Given the description of an element on the screen output the (x, y) to click on. 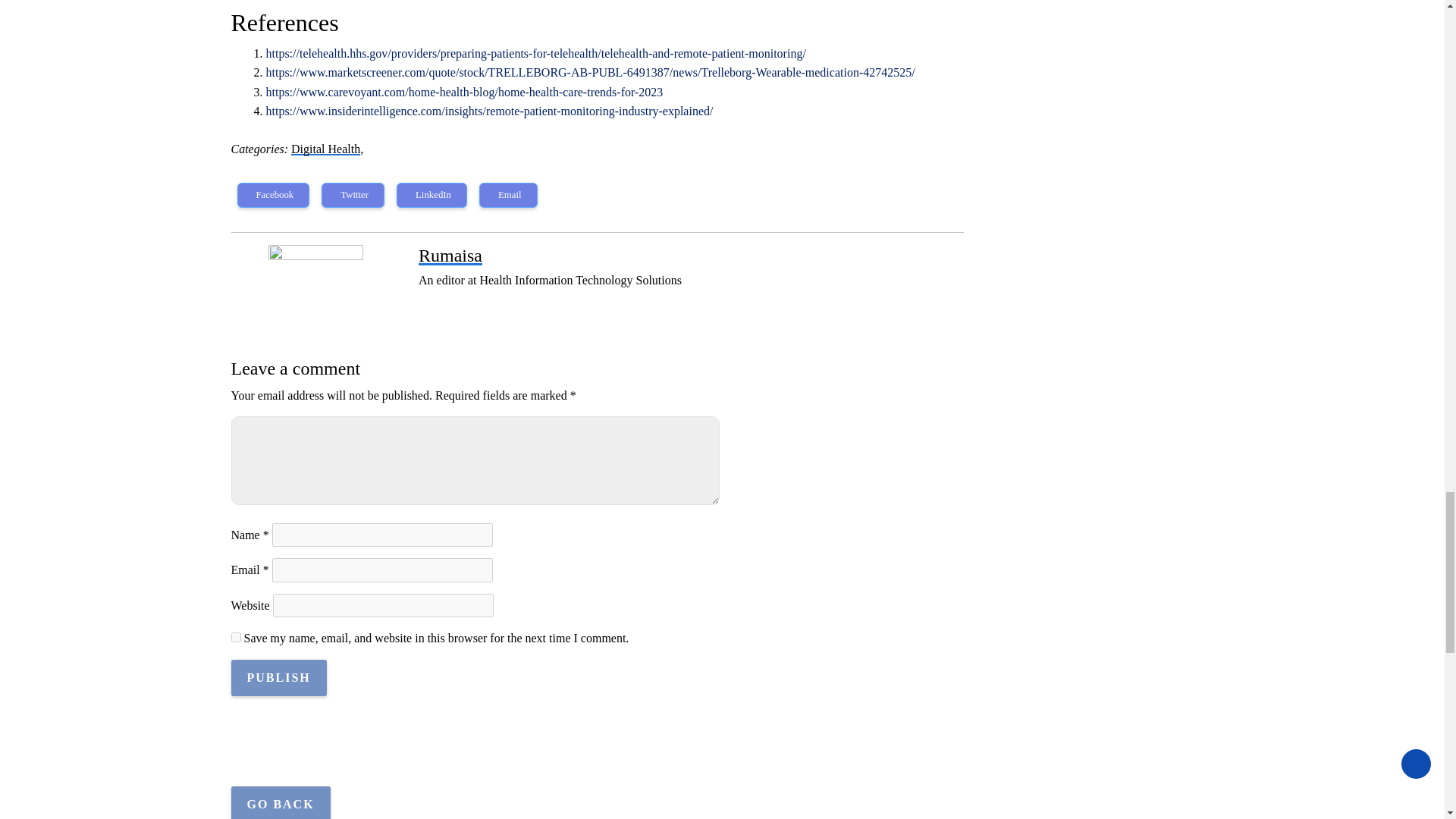
yes (235, 637)
Click to share this post on LinkedIn (431, 194)
Rumaisa (450, 255)
Click to share this post on Twitter (352, 194)
PUBLISH (278, 678)
Click to share this post by Email (508, 194)
Rumaisa (450, 255)
Email (508, 194)
Digital Health (325, 148)
Click to share this post on Facebook (271, 194)
